Given the description of an element on the screen output the (x, y) to click on. 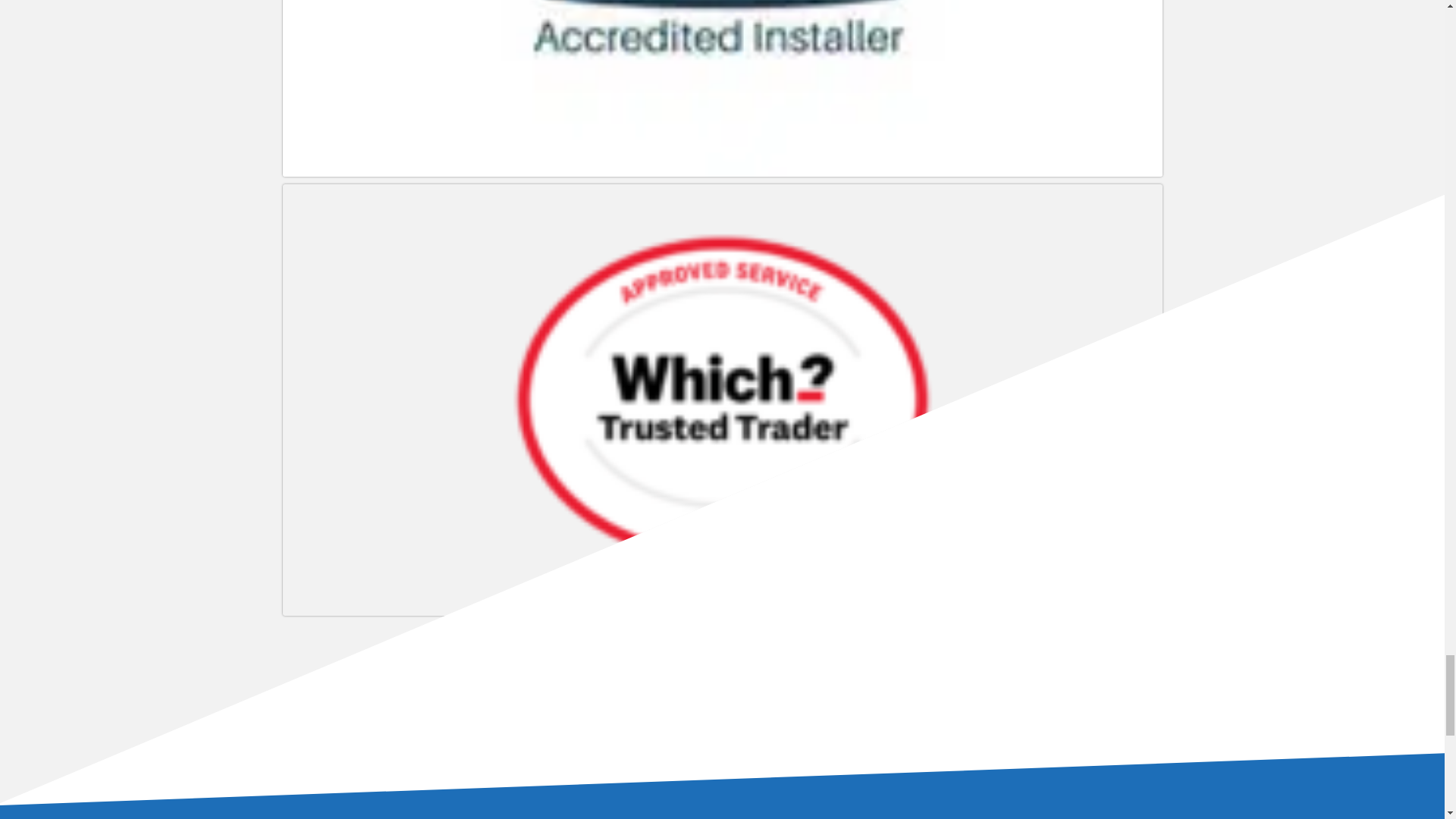
01296 208 247 (765, 727)
0800 8 247 585 (679, 727)
